Given the description of an element on the screen output the (x, y) to click on. 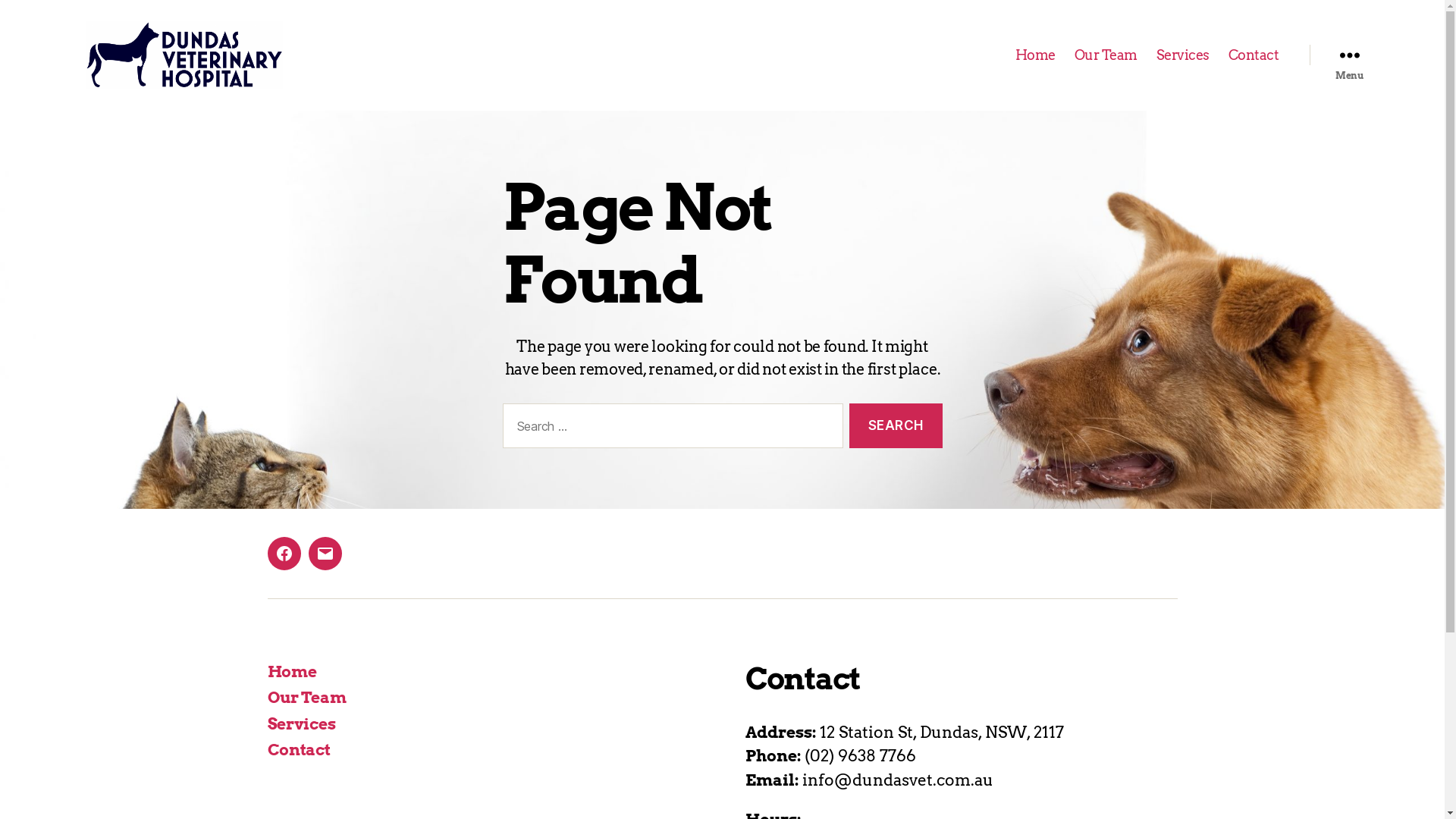
Email Element type: text (324, 553)
Facebook Element type: text (283, 553)
Contact Element type: text (1253, 55)
Home Element type: text (291, 671)
Search Element type: text (895, 425)
Our Team Element type: text (305, 696)
Home Element type: text (1035, 55)
Our Team Element type: text (1105, 55)
Menu Element type: text (1348, 55)
Services Element type: text (1182, 55)
Services Element type: text (300, 723)
Contact Element type: text (297, 749)
